Given the description of an element on the screen output the (x, y) to click on. 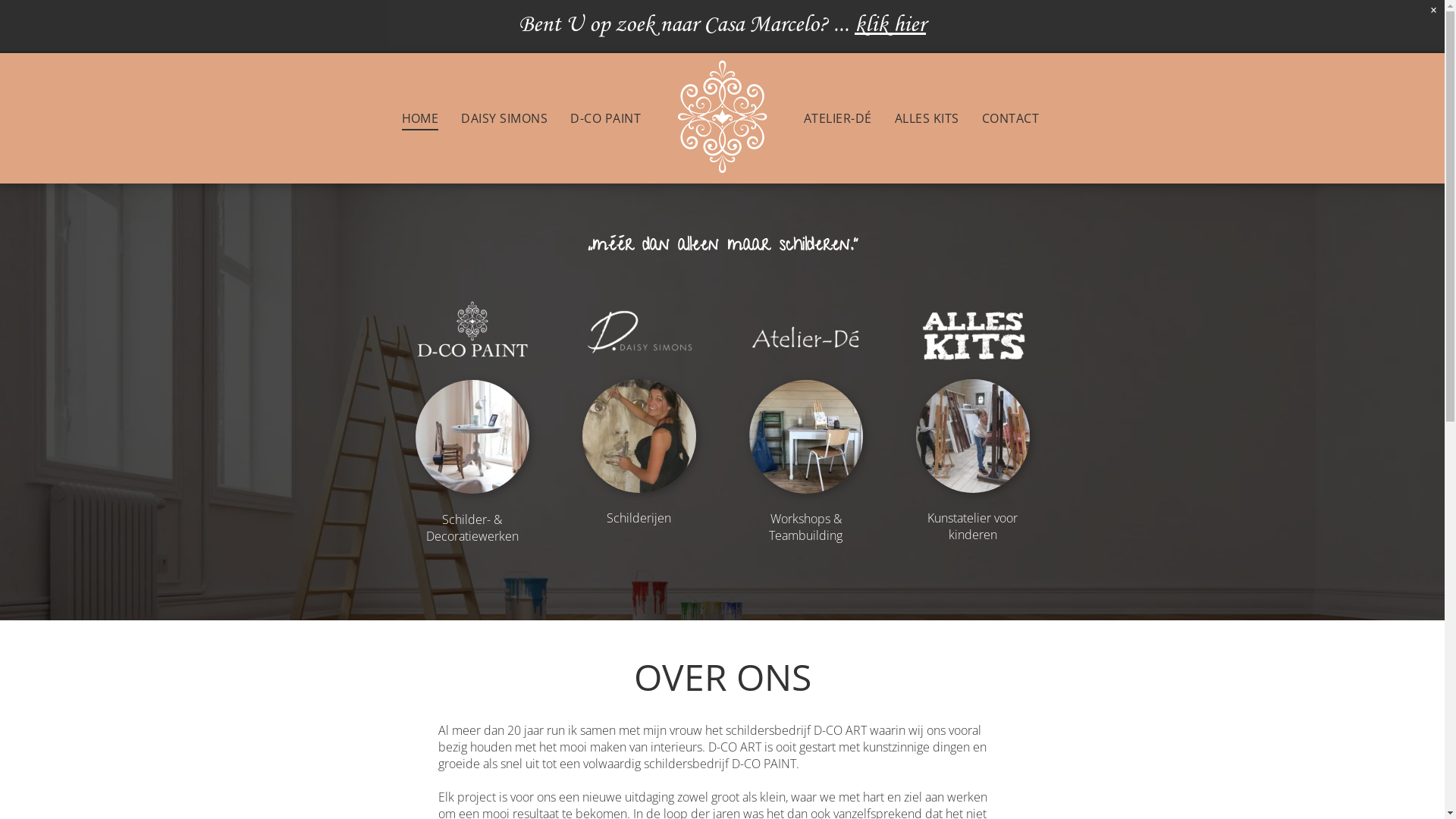
Kunstatelier voor kinderen Element type: text (972, 525)
klik hier Element type: text (889, 26)
D-CO PAINT Element type: text (605, 117)
HOME Element type: text (419, 117)
ALLES KITS Element type: text (926, 117)
Schilder- & Decoratiewerken Element type: text (472, 527)
DAISY SIMONS Element type: text (503, 117)
CONTACT Element type: text (1010, 117)
Workshops & Teambuilding Element type: text (805, 526)
Schilderijen Element type: text (638, 517)
